Given the description of an element on the screen output the (x, y) to click on. 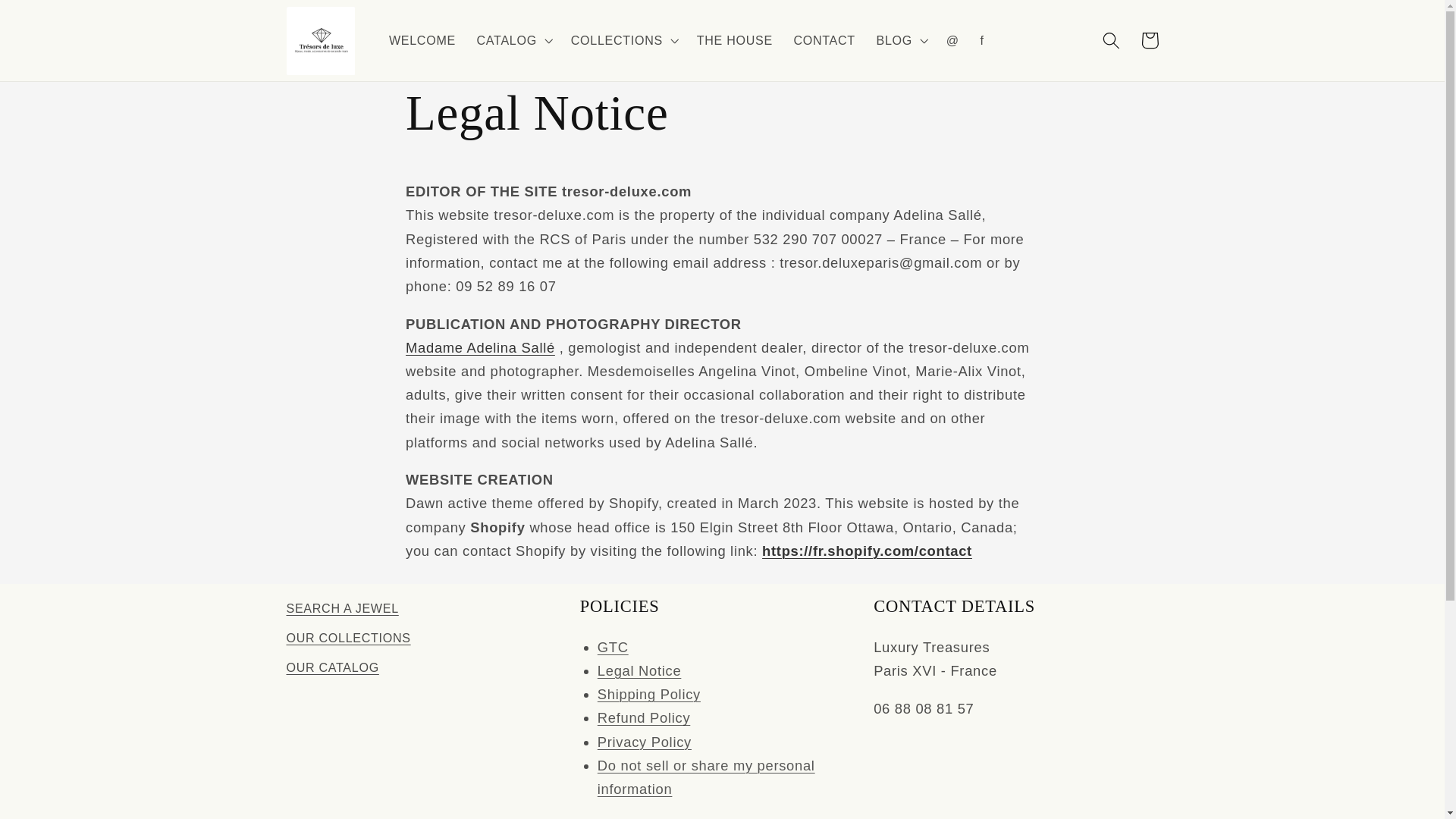
GTC (612, 647)
Do not sell or share my personal information (705, 776)
Shipping Policy (648, 693)
Legal Notice (638, 670)
Refund Policy (643, 717)
Skip to content (52, 20)
WELCOME (421, 40)
Privacy Policy (643, 741)
